Given the description of an element on the screen output the (x, y) to click on. 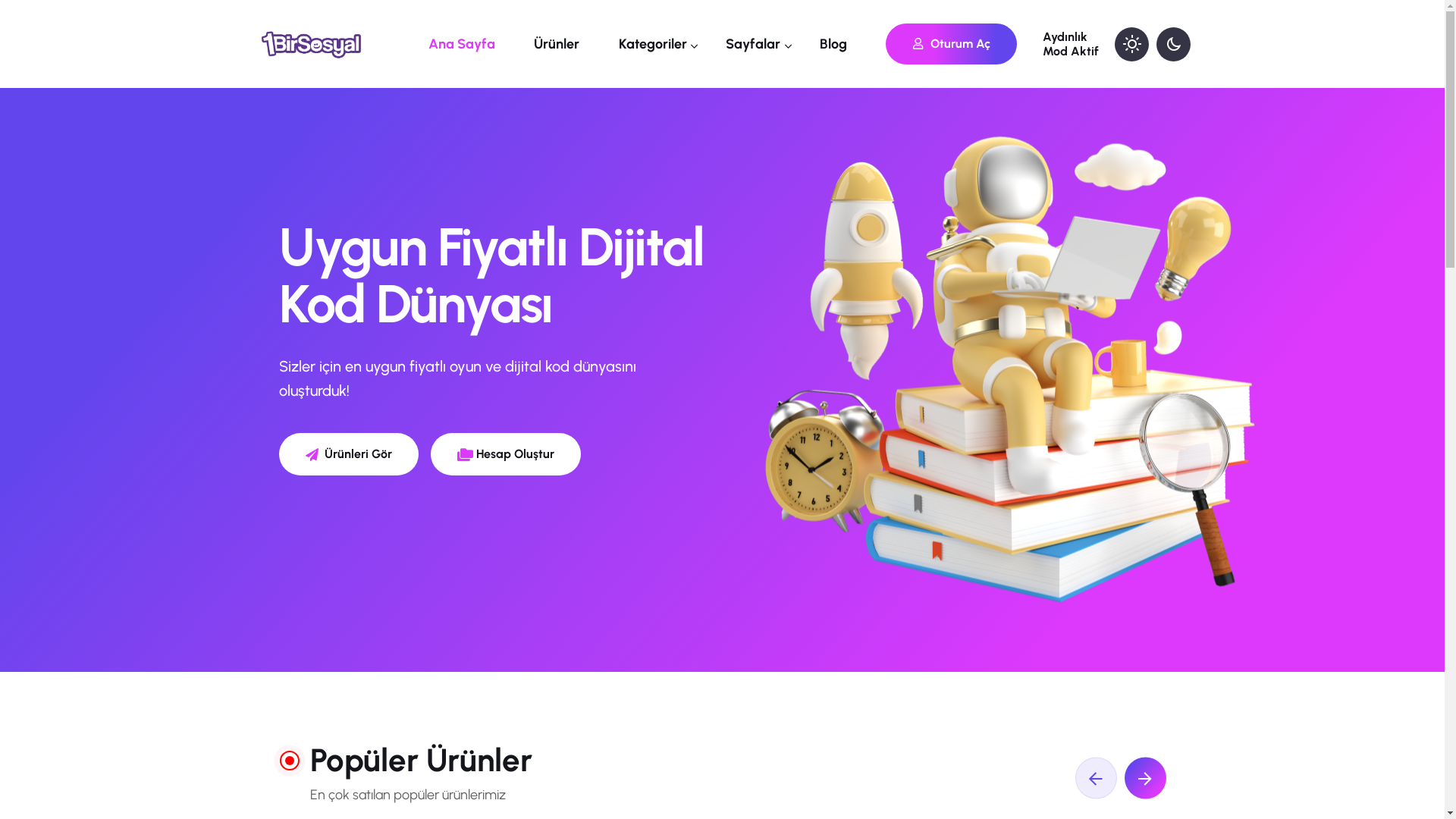
Sayfalar Element type: text (758, 43)
Kategoriler Element type: text (658, 43)
Blog Element type: text (838, 43)
Ana Sayfa Element type: text (467, 43)
